Given the description of an element on the screen output the (x, y) to click on. 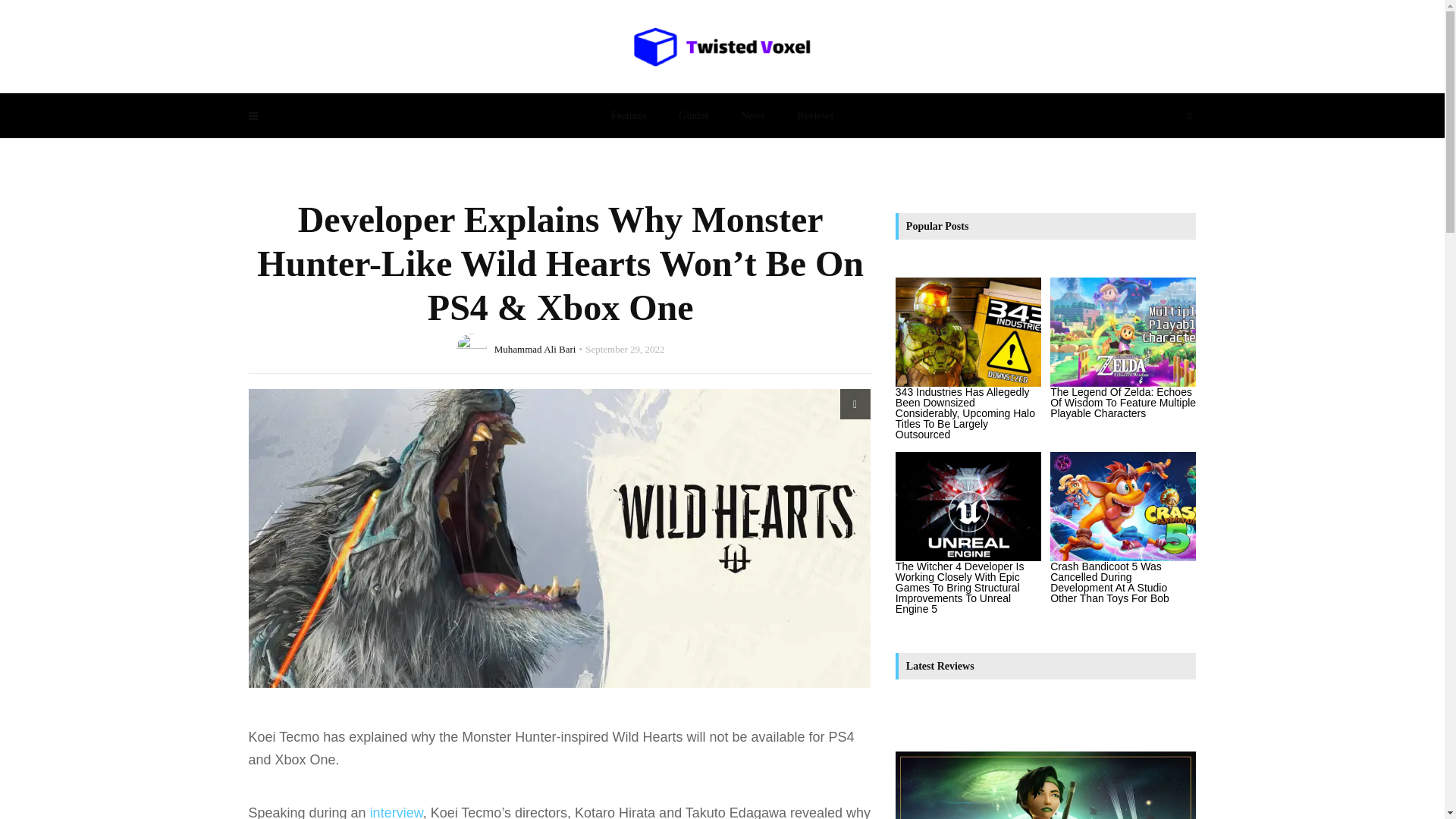
Muhammad Ali Bari (535, 348)
Guides (693, 115)
Features (628, 115)
News (752, 115)
Reviews (814, 115)
interview (396, 812)
